Given the description of an element on the screen output the (x, y) to click on. 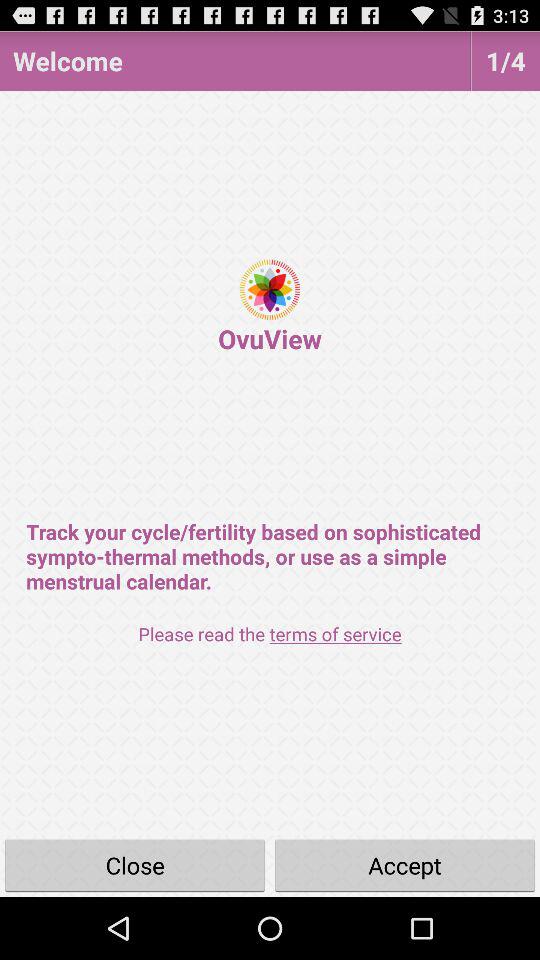
jump until close icon (135, 864)
